Given the description of an element on the screen output the (x, y) to click on. 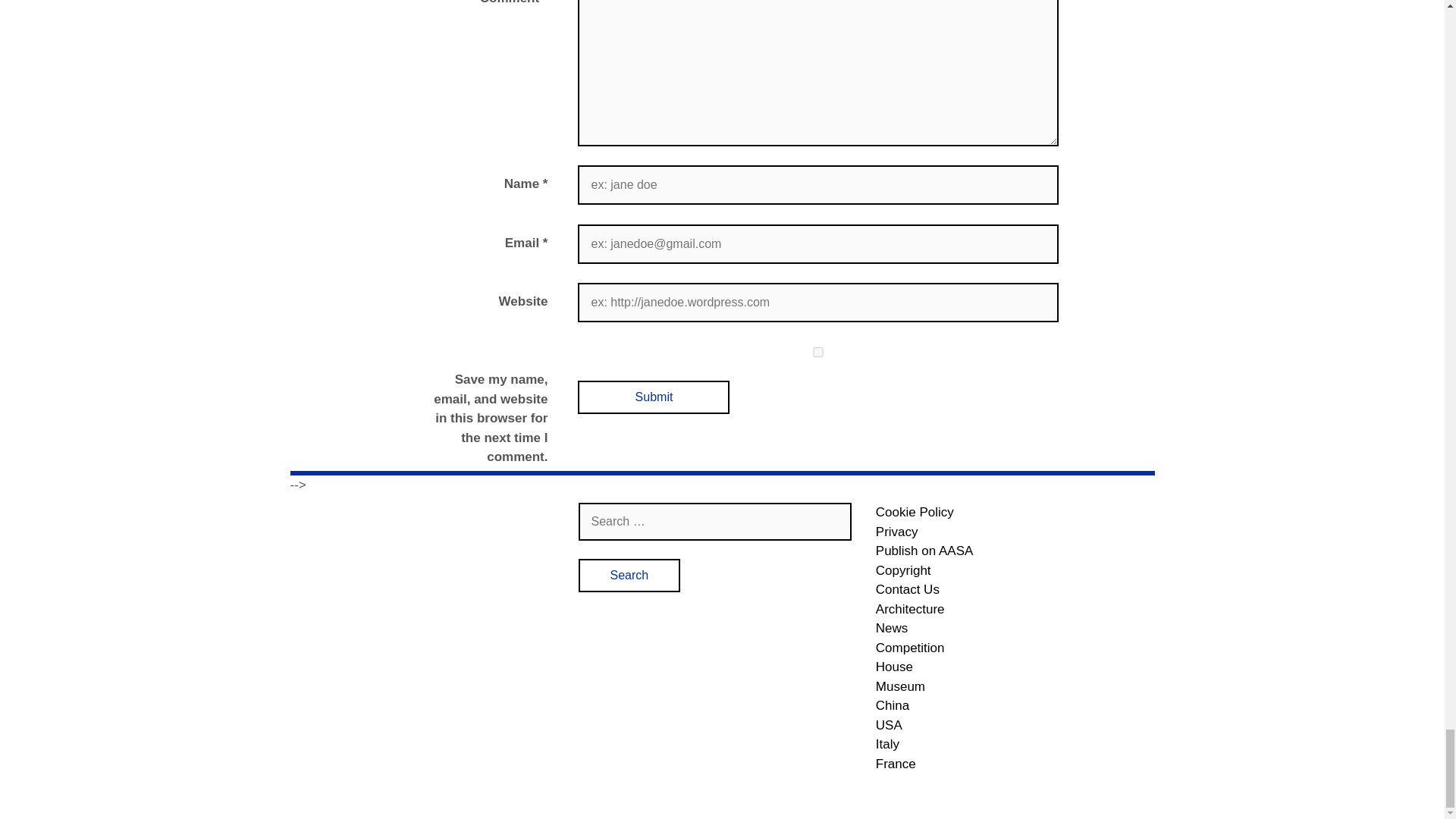
yes (818, 352)
Search (629, 575)
Search (629, 575)
Submit (653, 397)
